Given the description of an element on the screen output the (x, y) to click on. 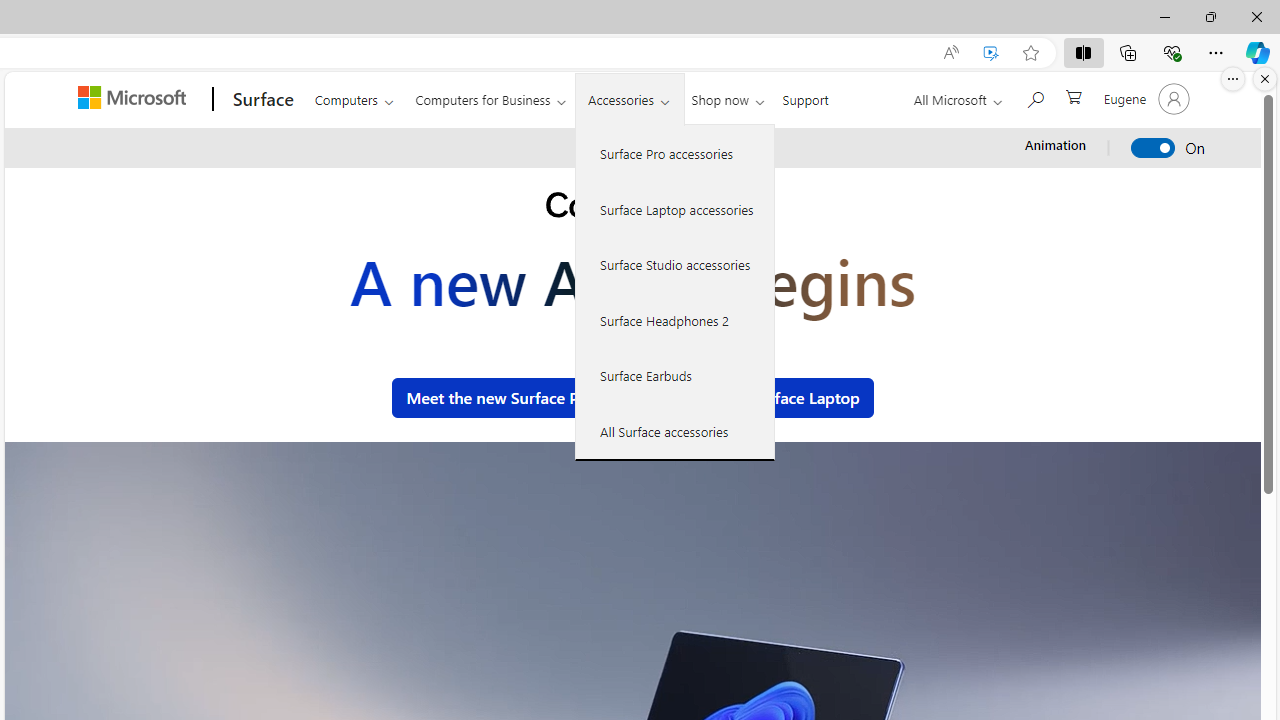
Enhance video (991, 53)
Surface Pro accessories (675, 153)
All Surface accessories (675, 431)
Copilot+ PC. (632, 207)
Surface Studio accessories (675, 264)
Surface Pro accessories (675, 153)
Surface Headphones 2 (675, 319)
0 items in shopping cart (1072, 95)
